Given the description of an element on the screen output the (x, y) to click on. 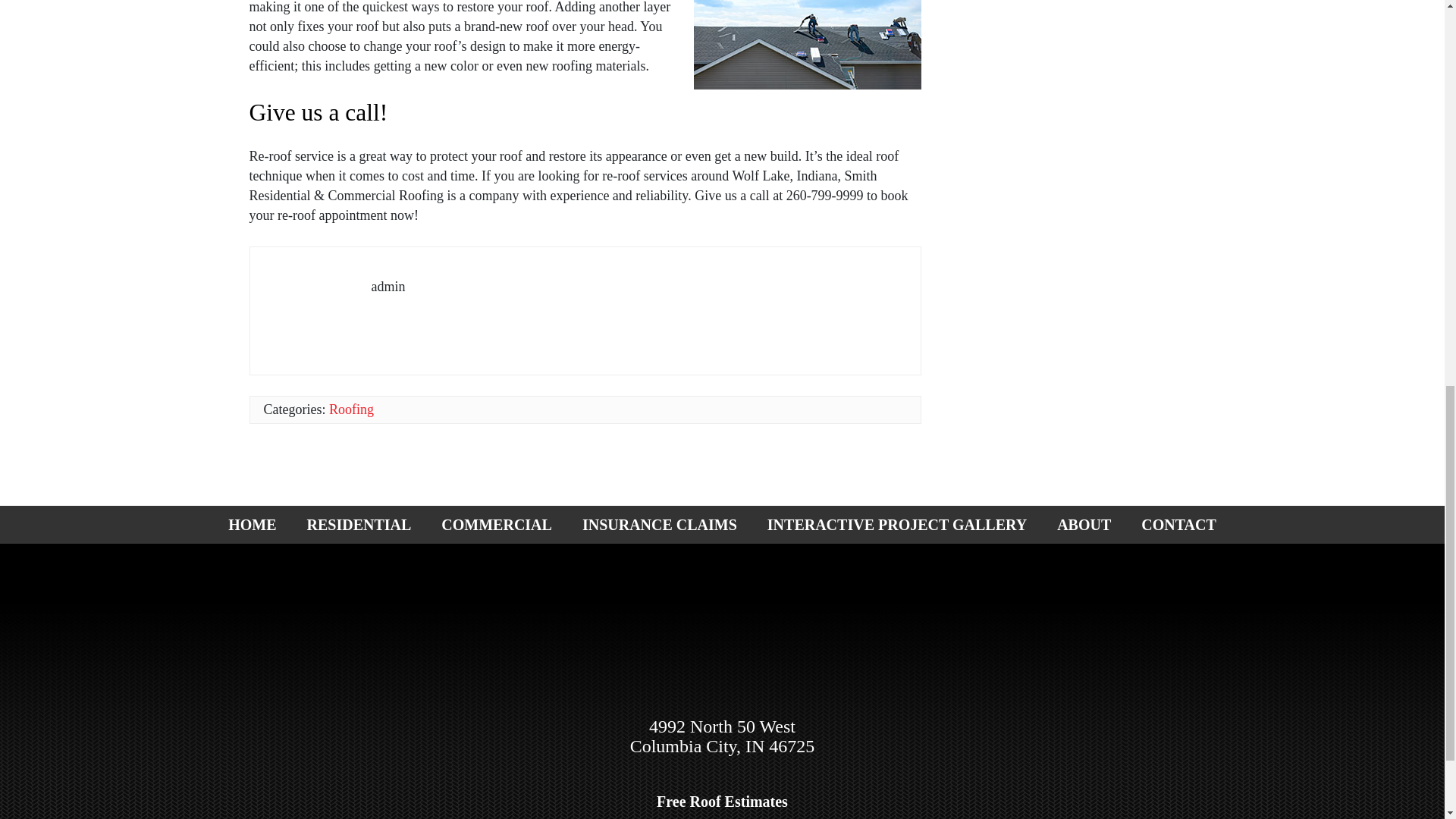
Re-Roof - Wolf Lake, Indiana 2 (807, 44)
COMMERCIAL (496, 524)
RESIDENTIAL (359, 524)
Roofing (351, 409)
INSURANCE CLAIMS (659, 524)
INTERACTIVE PROJECT GALLERY (897, 524)
HOME (251, 524)
Re-Roof - Wolf Lake, Indiana 3 (318, 300)
